Given the description of an element on the screen output the (x, y) to click on. 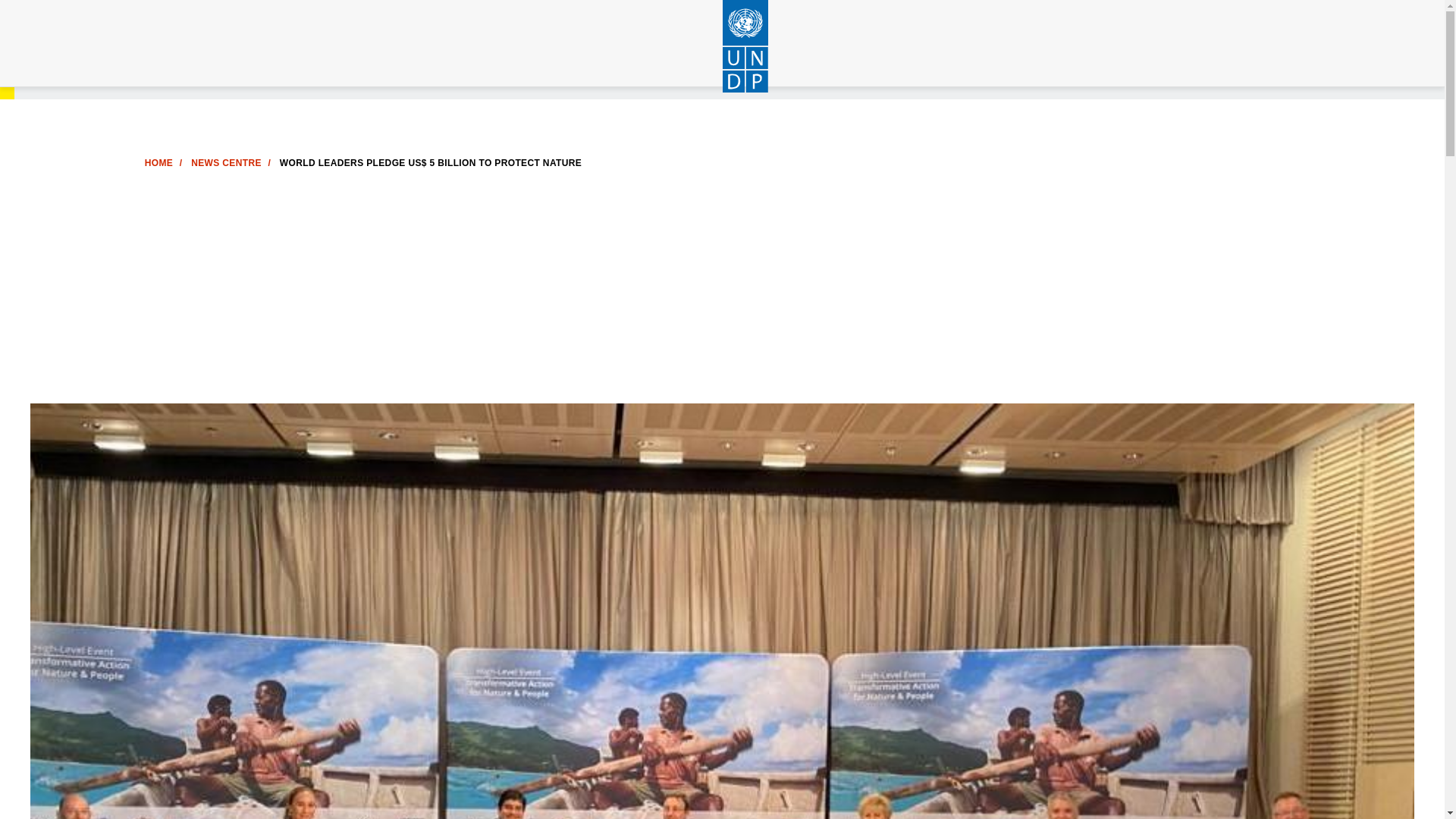
NEWS CENTRE (226, 163)
HOME (158, 163)
